Given the description of an element on the screen output the (x, y) to click on. 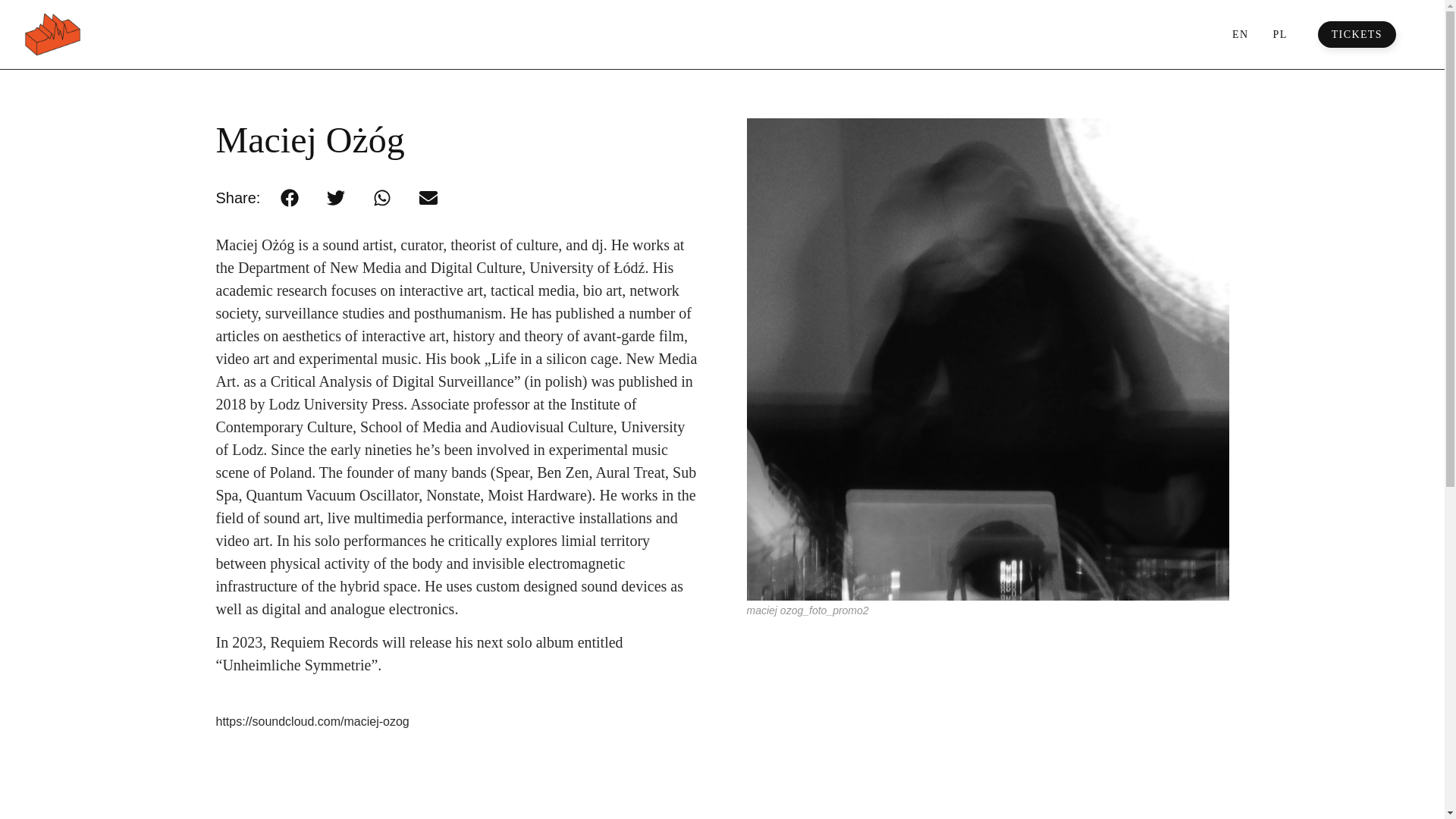
PL (1279, 34)
EN (1239, 34)
TICKETS (1356, 34)
